Given the description of an element on the screen output the (x, y) to click on. 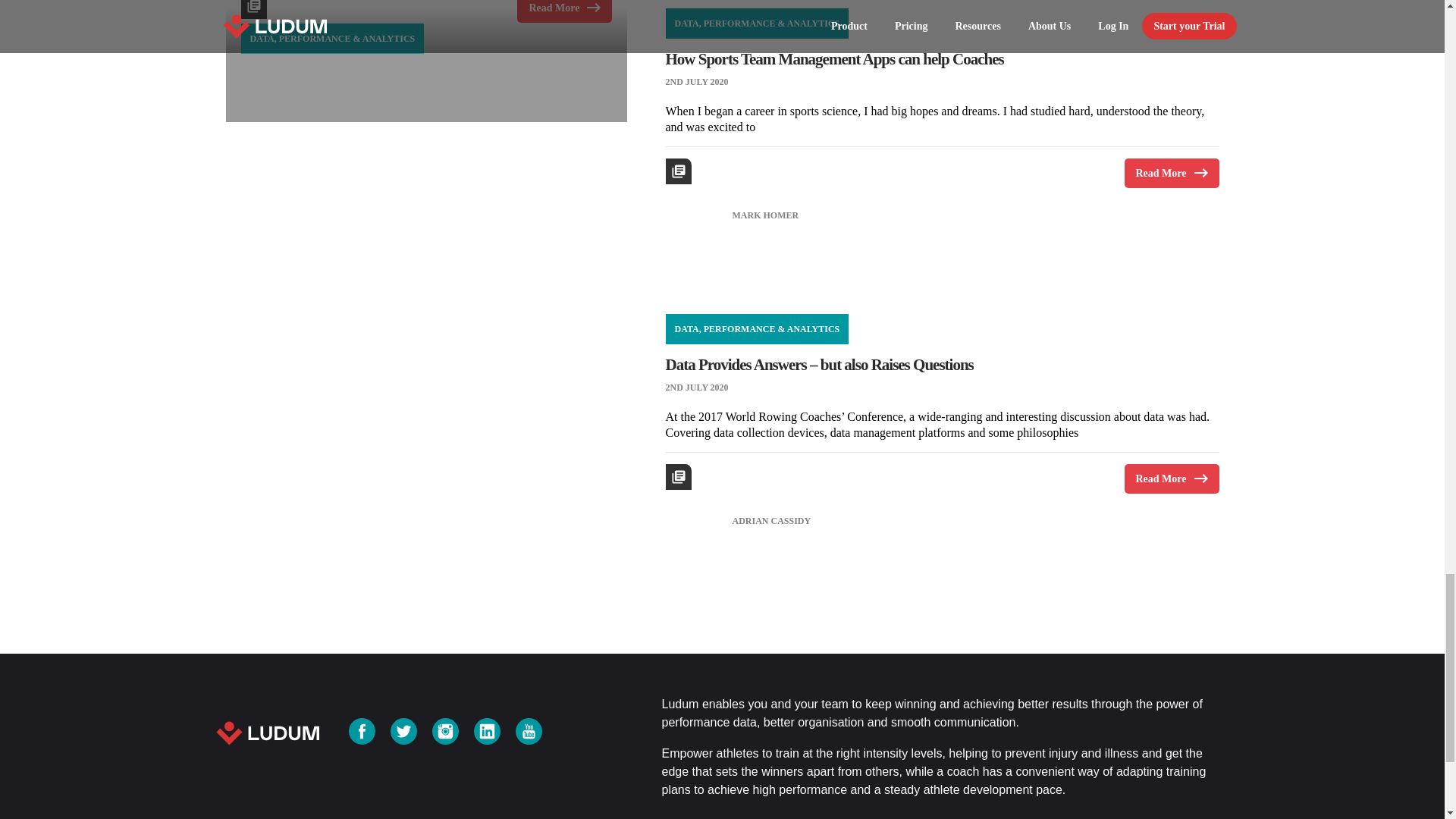
Follow us on Twitter (403, 731)
Follow us on Instagram (445, 731)
View us on Facebook (362, 731)
Watch our videos on YouTube (528, 731)
View our profile on LinkedIn (487, 731)
